Given the description of an element on the screen output the (x, y) to click on. 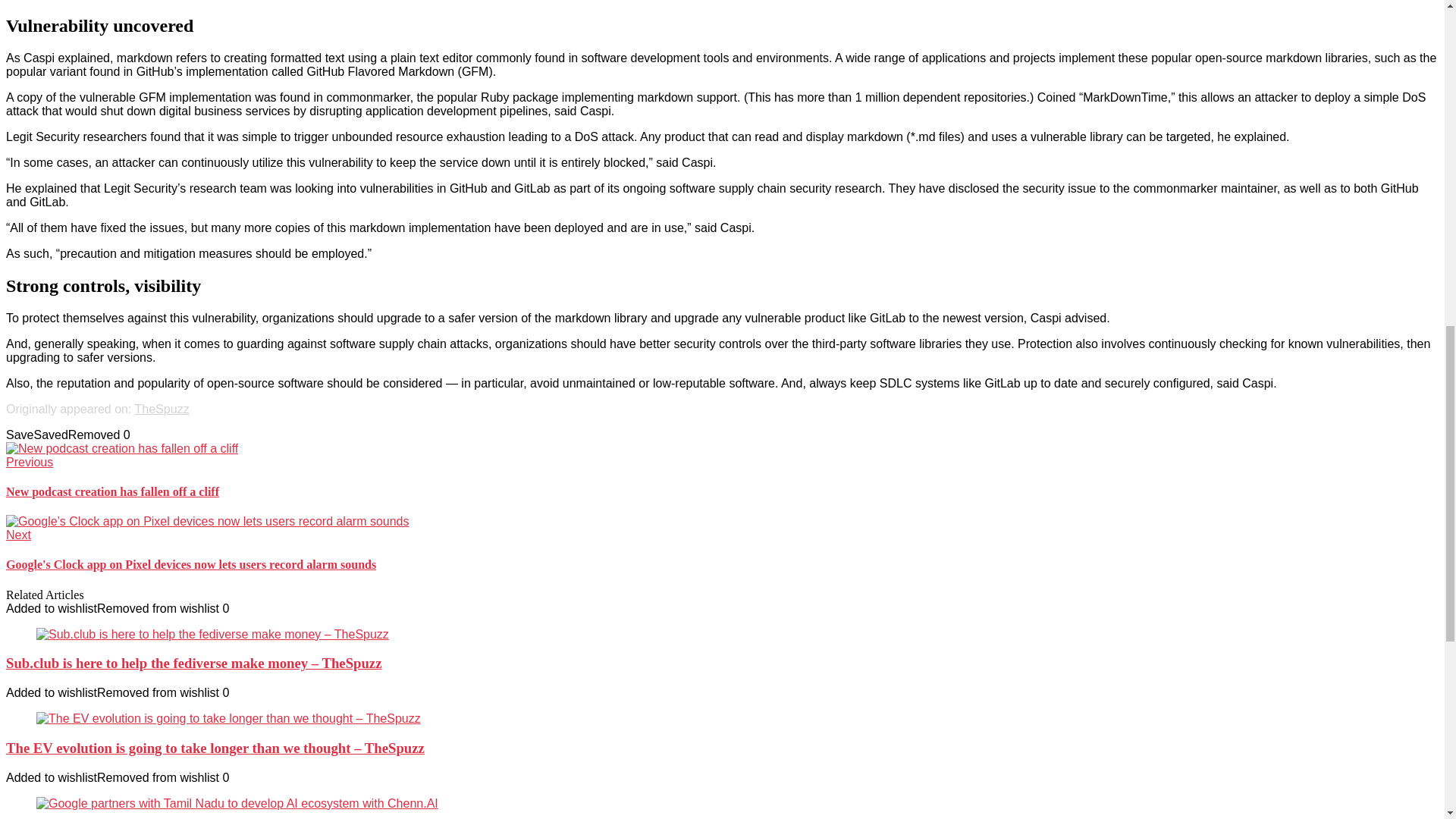
TheSpuzz (162, 408)
New podcast creation has fallen off a cliff (121, 448)
